Given the description of an element on the screen output the (x, y) to click on. 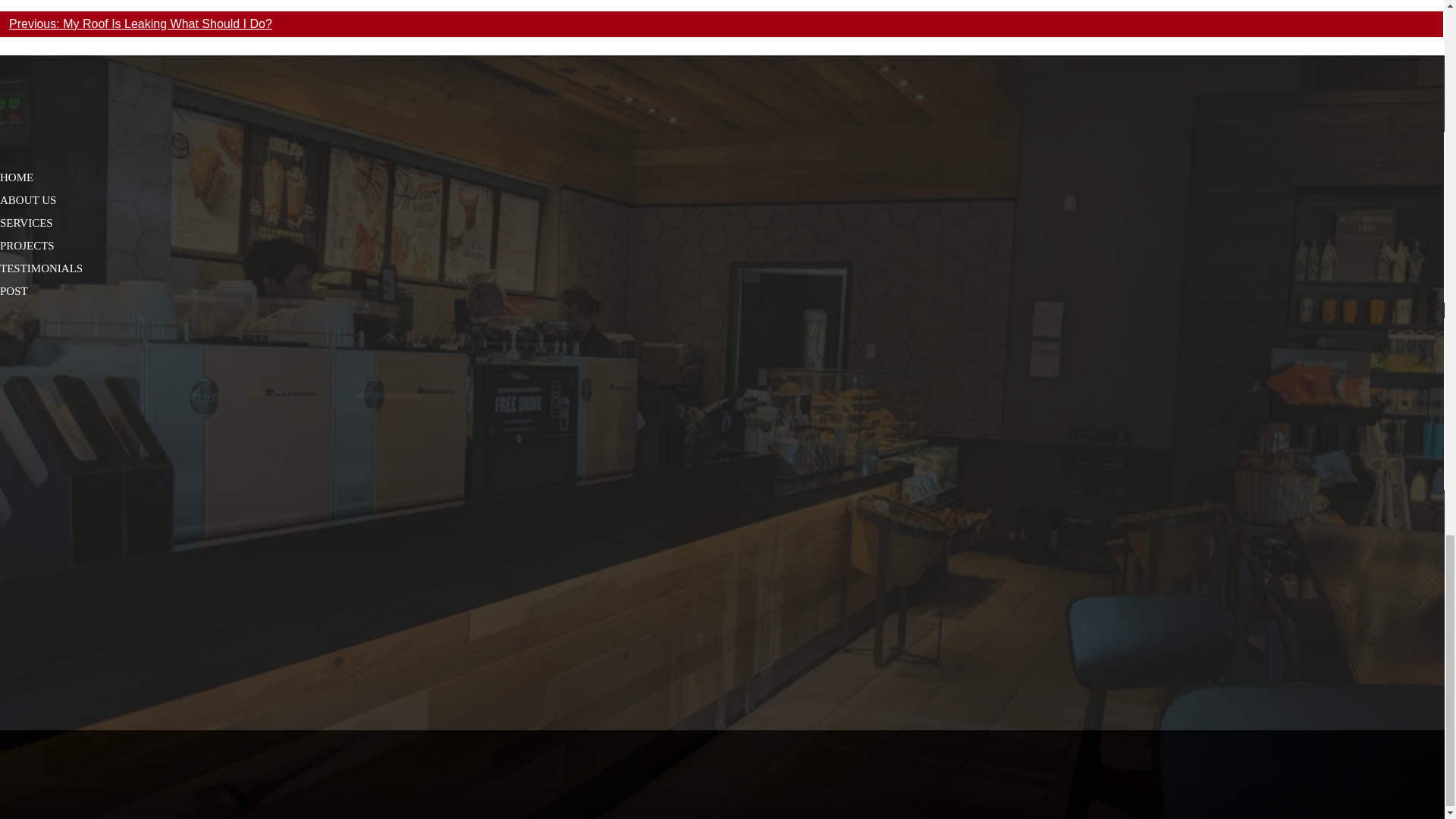
about us (28, 200)
SERVICES (26, 223)
post (13, 291)
projects (27, 245)
services (26, 223)
Testimonials (41, 268)
PROJECTS (27, 245)
HOME (16, 177)
Previous: My Roof Is Leaking What Should I Do? (140, 23)
home (16, 177)
POST (13, 291)
TESTIMONIALS (41, 268)
ABOUT US (28, 200)
